Given the description of an element on the screen output the (x, y) to click on. 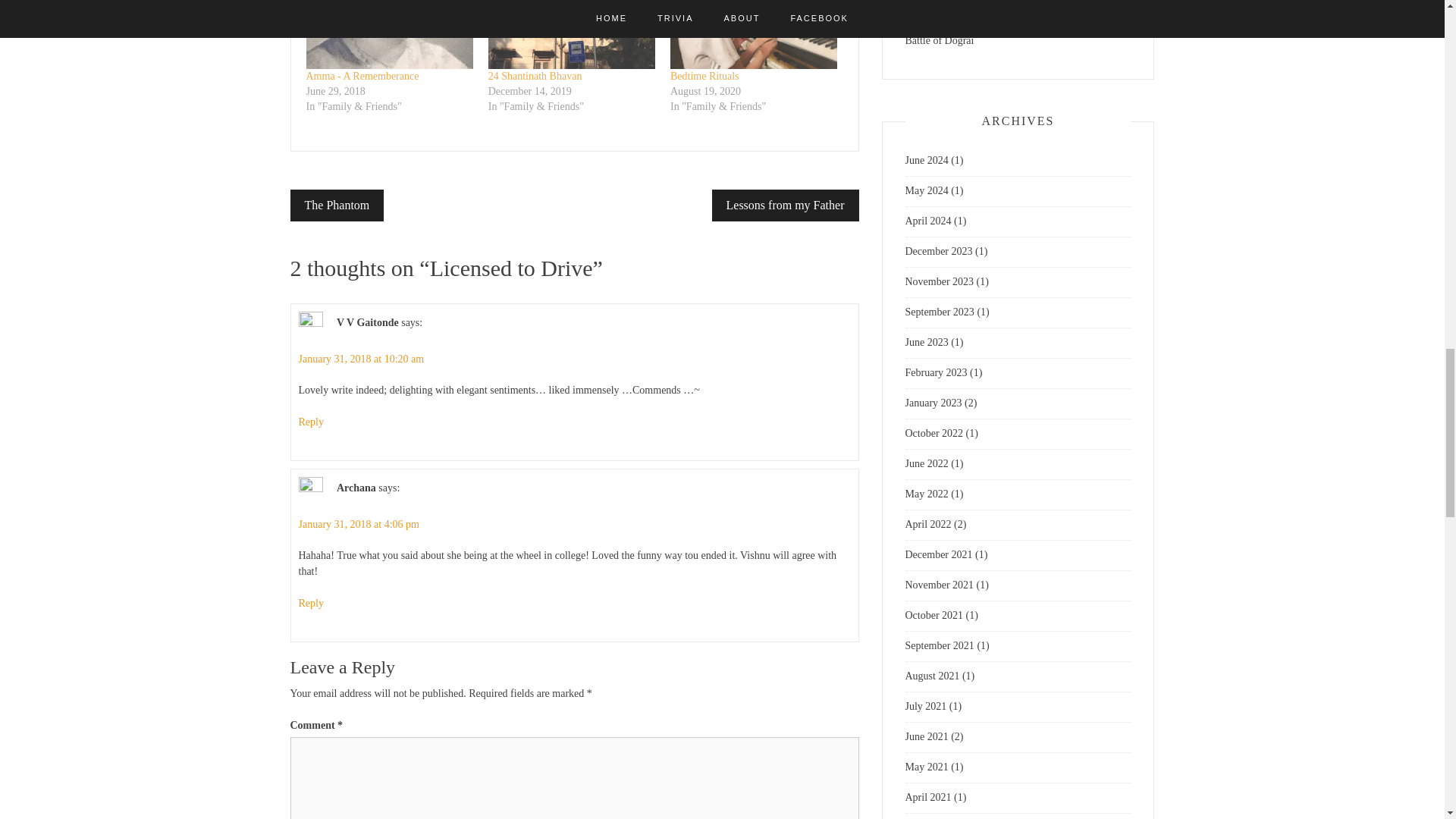
Amma - A Rememberance (362, 75)
January 31, 2018 at 10:20 am (361, 358)
Bedtime Rituals (753, 34)
24 Shantinath Bhavan (534, 75)
The Phantom (336, 205)
January 31, 2018 at 4:06 pm (358, 523)
Amma - A Rememberance (389, 34)
Bedtime Rituals (704, 75)
Reply (310, 603)
24 Shantinath Bhavan (534, 75)
Reply (310, 421)
Bedtime Rituals (704, 75)
Lessons from my Father (785, 205)
Amma - A Rememberance (362, 75)
24 Shantinath Bhavan (571, 34)
